Given the description of an element on the screen output the (x, y) to click on. 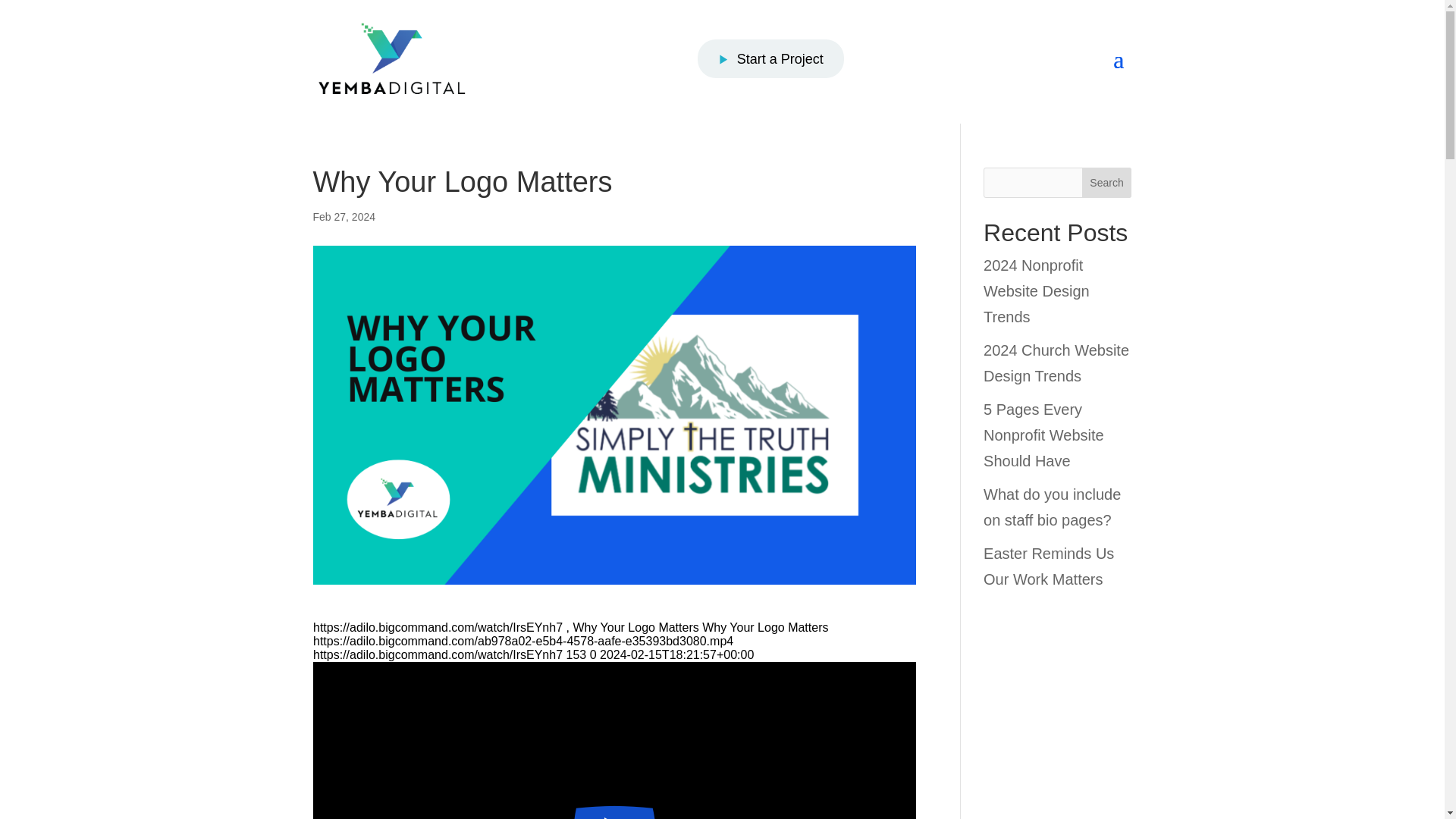
Search (1106, 182)
Easter Reminds Us Our Work Matters (1048, 566)
Start a Project (770, 58)
yemba menu logo (391, 58)
What do you include on staff bio pages? (1052, 507)
2024 Church Website Design Trends (1056, 363)
5 Pages Every Nonprofit Website Should Have (1043, 435)
2024 Nonprofit Website Design Trends (1036, 291)
